Given the description of an element on the screen output the (x, y) to click on. 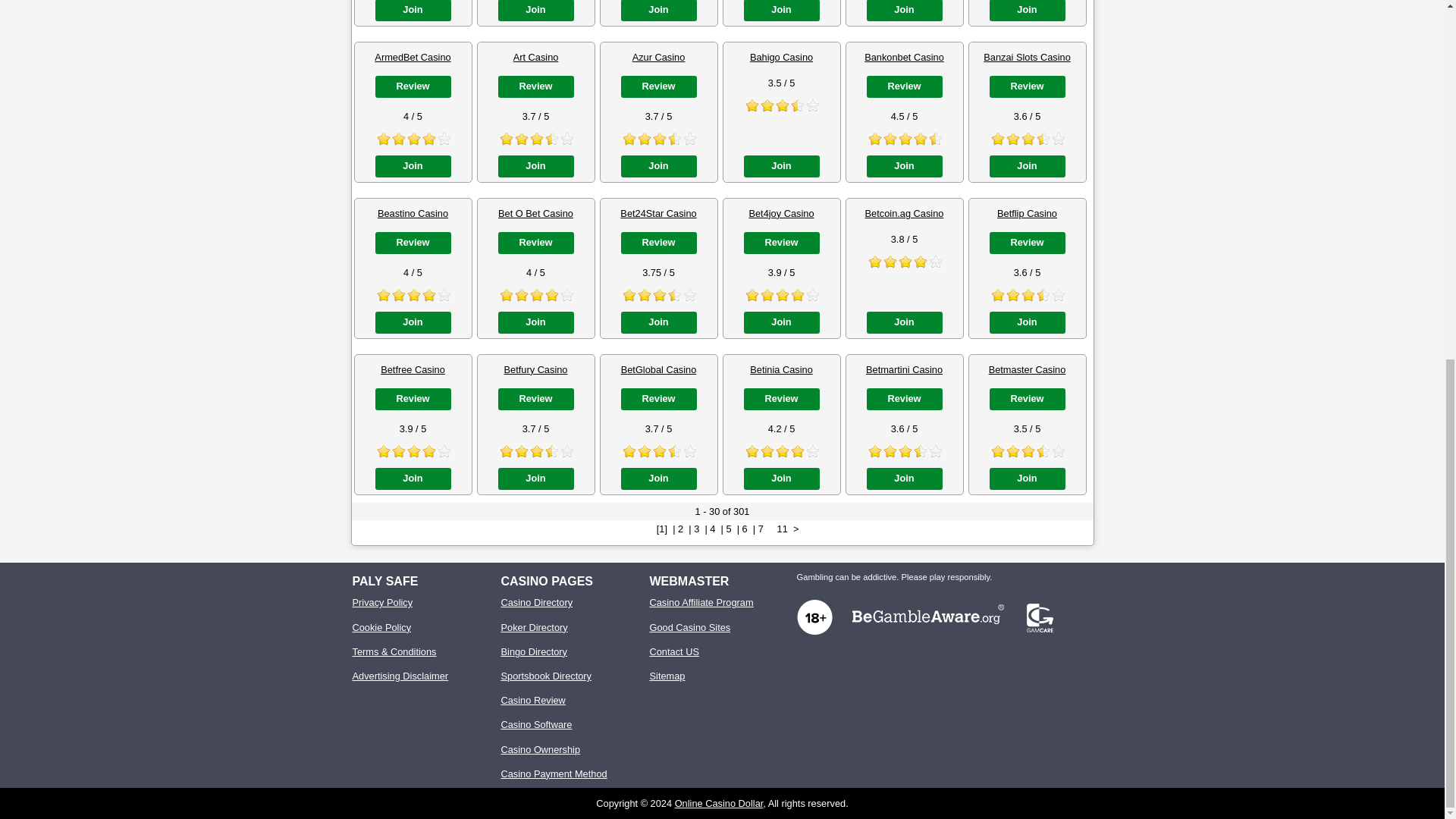
Go to last page (782, 528)
Join (411, 10)
